Given the description of an element on the screen output the (x, y) to click on. 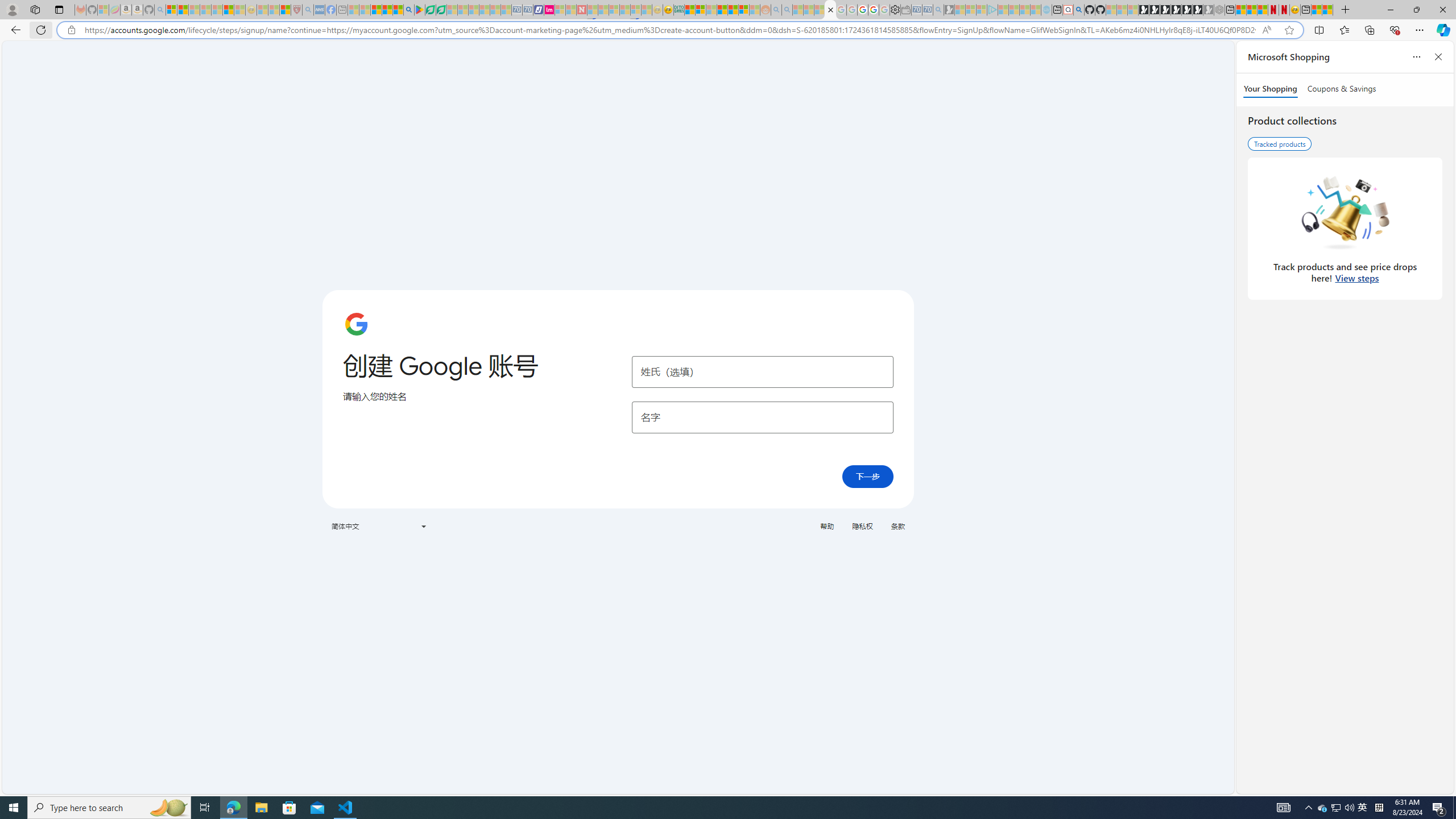
MSNBC - MSN - Sleeping (353, 9)
Microsoft-Report a Concern to Bing - Sleeping (103, 9)
Kinda Frugal - MSN (733, 9)
Microsoft Word - consumer-privacy address update 2.2021 (440, 9)
DITOGAMES AG Imprint (678, 9)
